Given the description of an element on the screen output the (x, y) to click on. 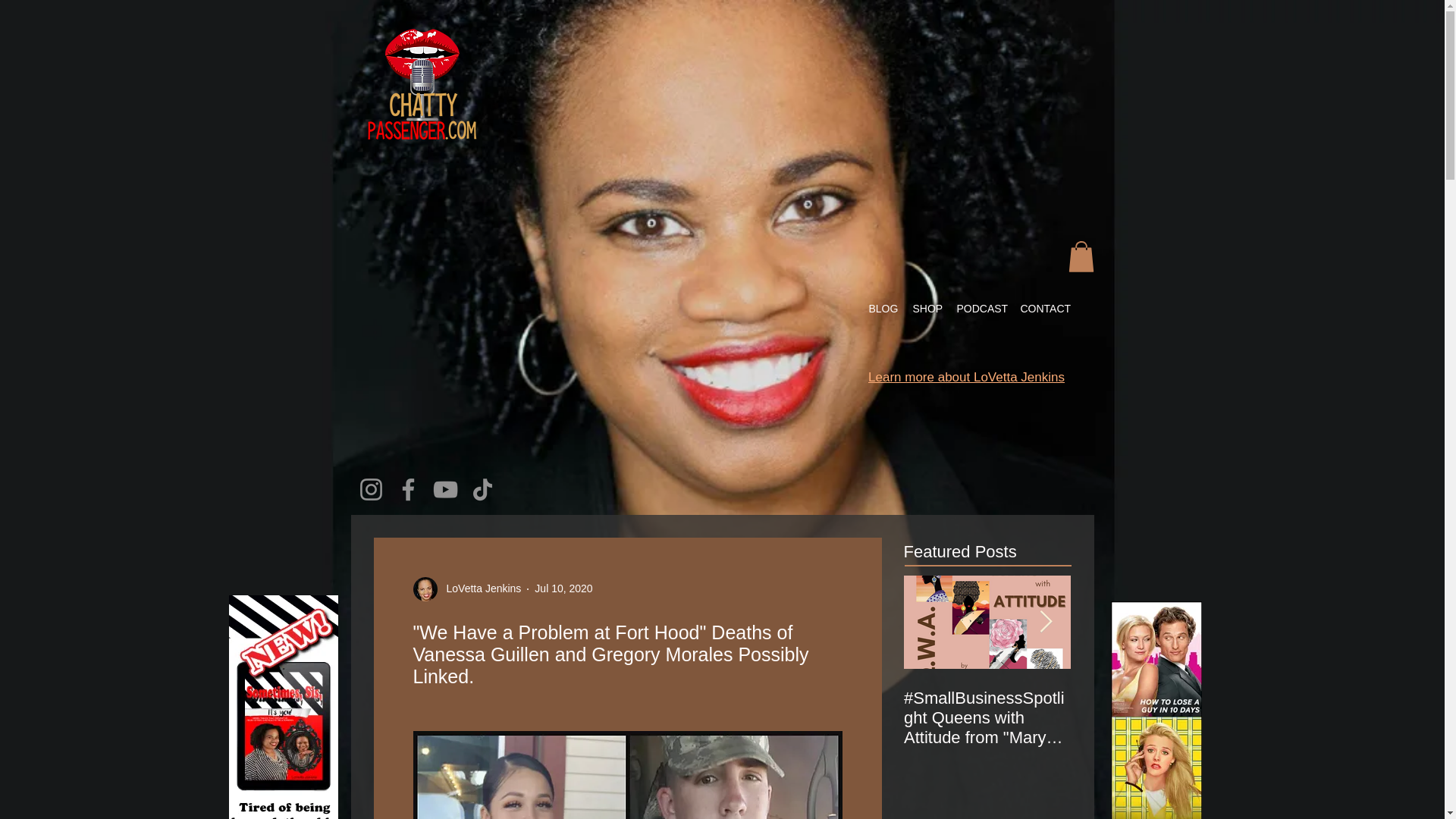
SHOP (927, 308)
CONTACT (1045, 308)
LoVetta Jenkins (478, 588)
BLOG (882, 308)
LoVetta Jenkins (466, 589)
Jul 10, 2020 (563, 588)
PODCAST (980, 308)
Learn more about LoVetta Jenkins (965, 377)
